Given the description of an element on the screen output the (x, y) to click on. 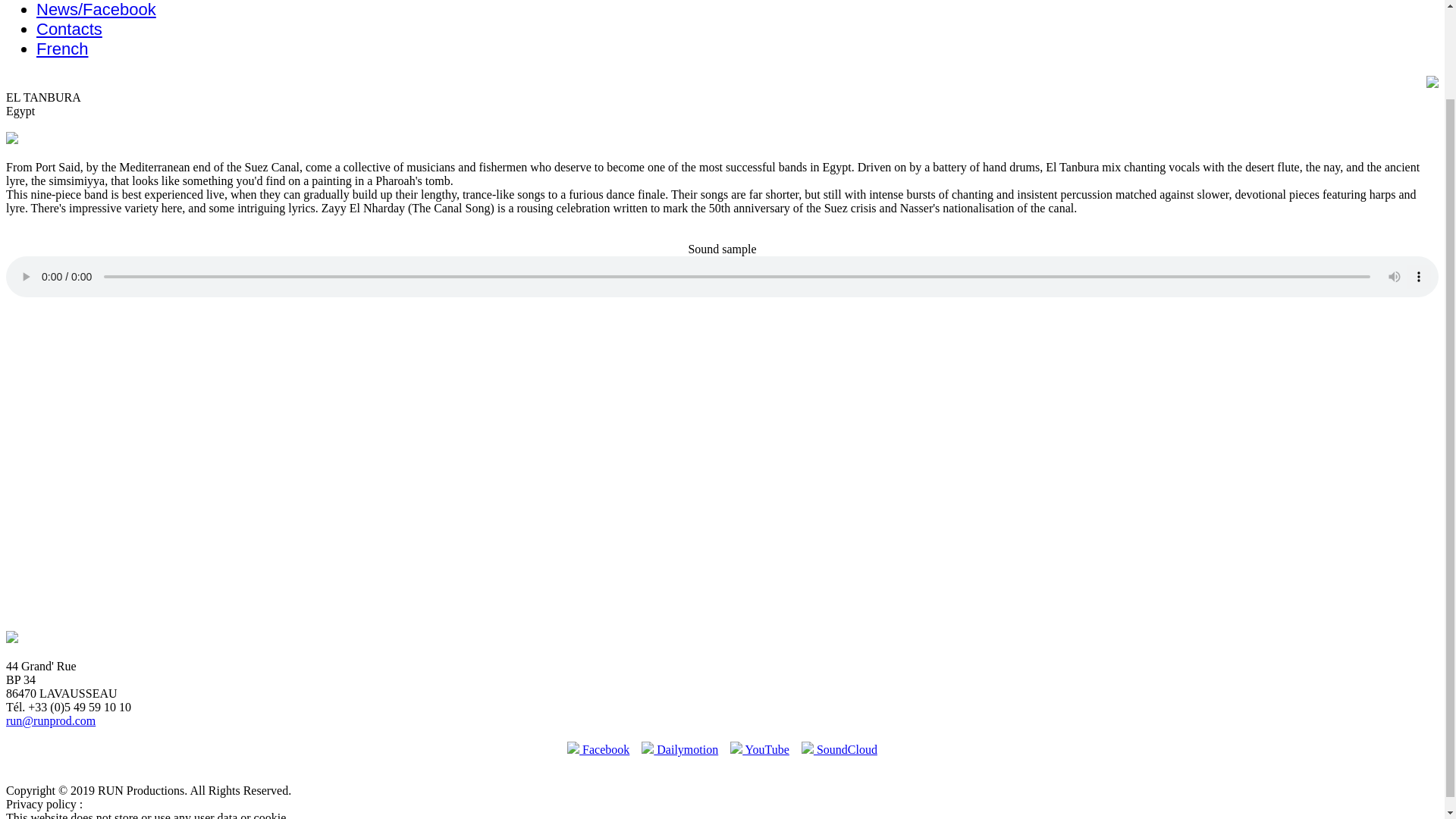
 YouTube (759, 748)
 Facebook (597, 748)
 SoundCloud (839, 748)
 Dailymotion (679, 748)
Contacts (68, 28)
French (61, 48)
